Given the description of an element on the screen output the (x, y) to click on. 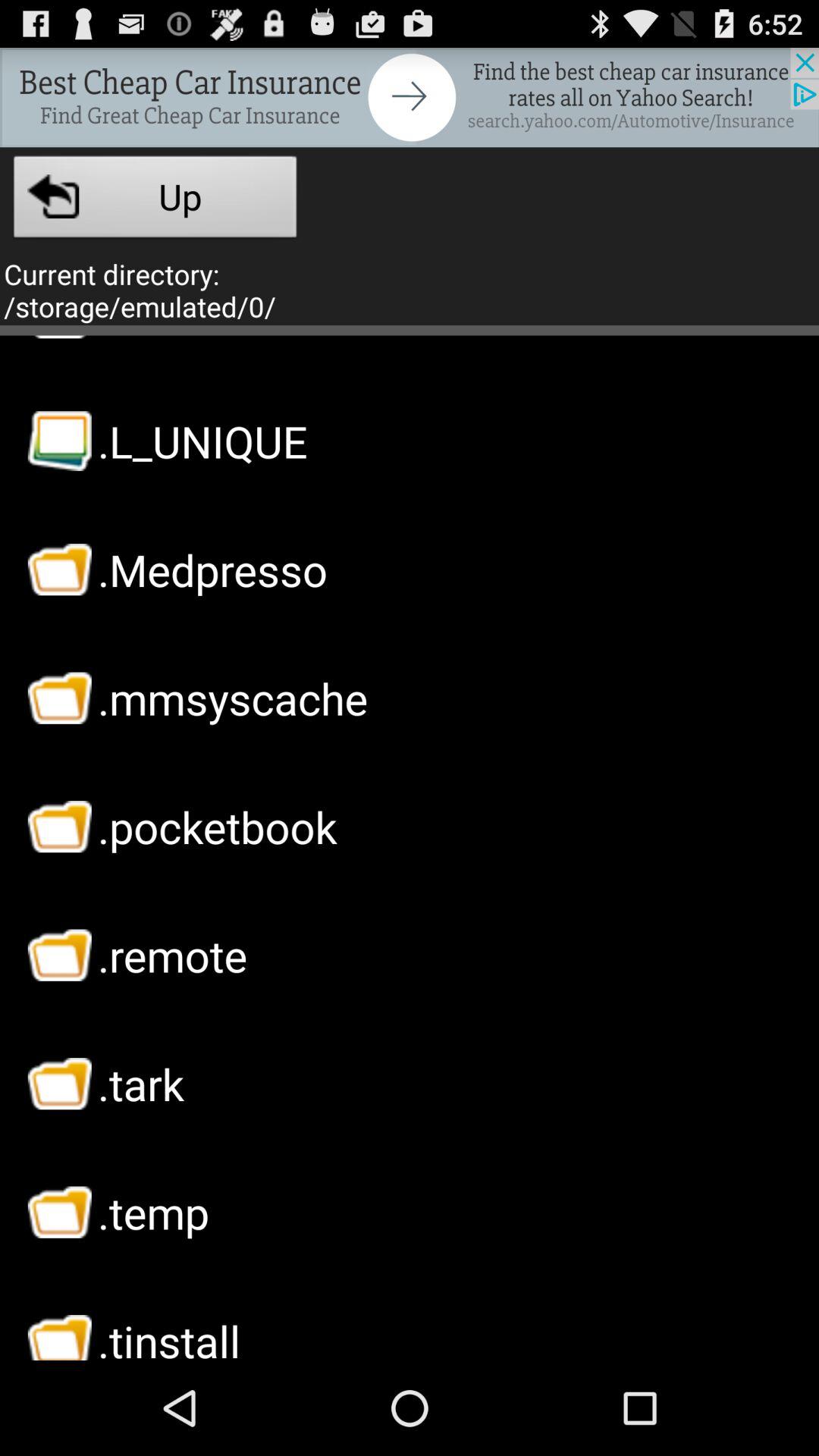
open advertisement (409, 97)
